Given the description of an element on the screen output the (x, y) to click on. 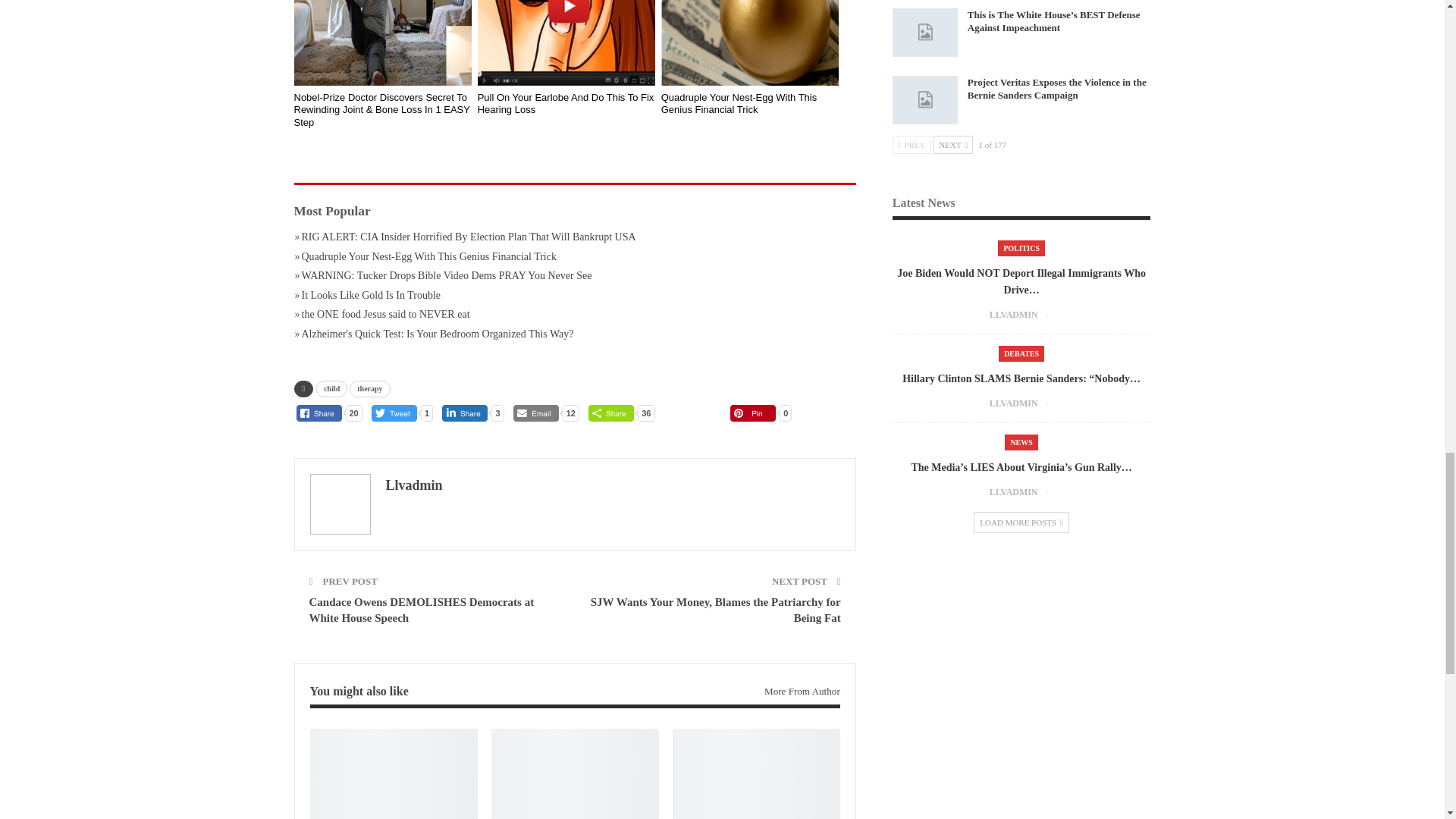
Pull On Your Earlobe And Do This To Fix Hearing Loss (566, 43)
Quadruple Your Nest-Egg With This Genius Financial Trick (750, 43)
